Given the description of an element on the screen output the (x, y) to click on. 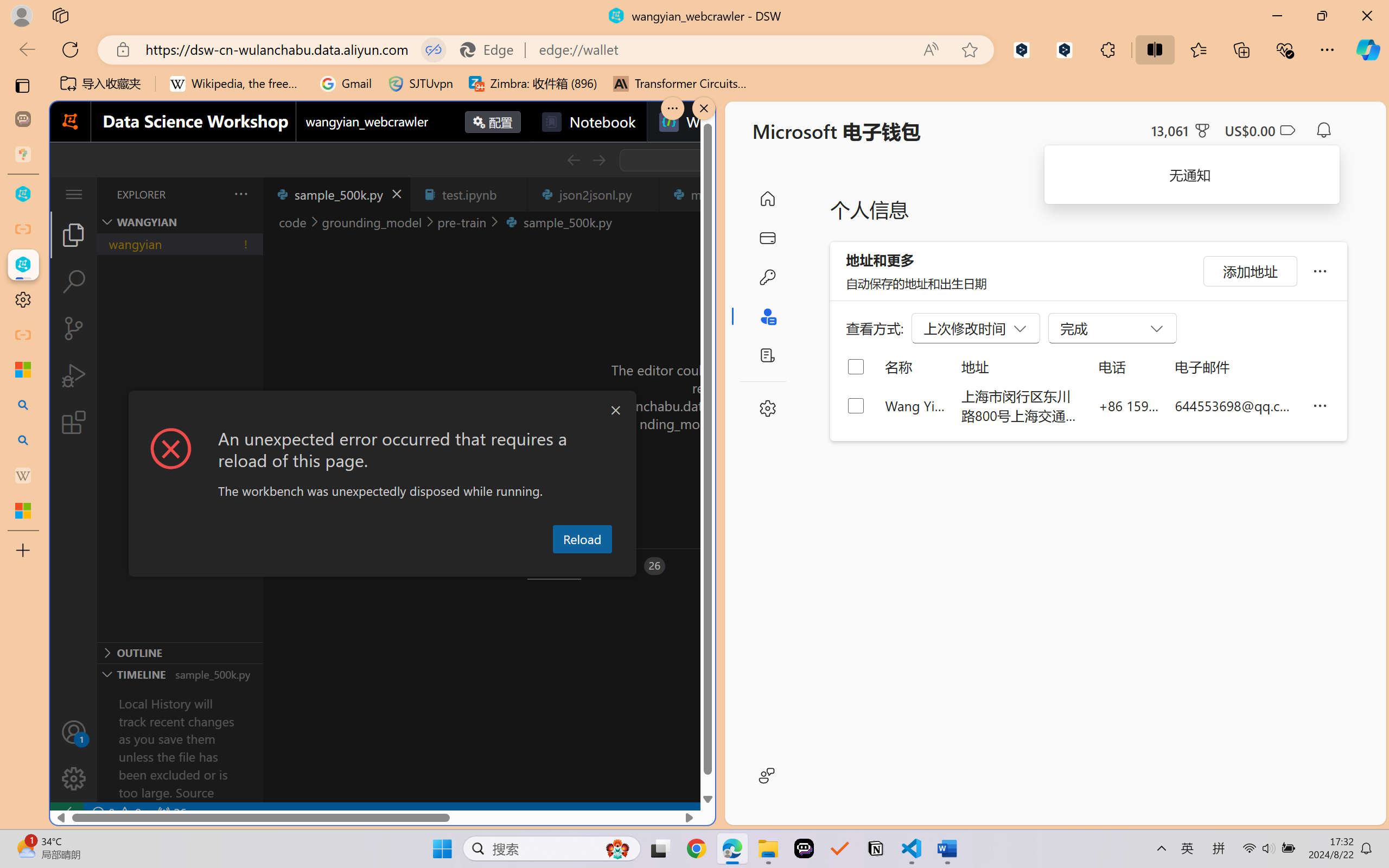
Copilot (Ctrl+Shift+.) (1368, 49)
Class: ___1lmltc5 f1agt3bx f12qytpq (1286, 130)
Wang Yian (914, 405)
Output (Ctrl+Shift+U) (377, 565)
644553698@qq.com (1235, 405)
Ports - 26 forwarded ports (632, 565)
+86 159 0032 4640 (1128, 405)
